Given the description of an element on the screen output the (x, y) to click on. 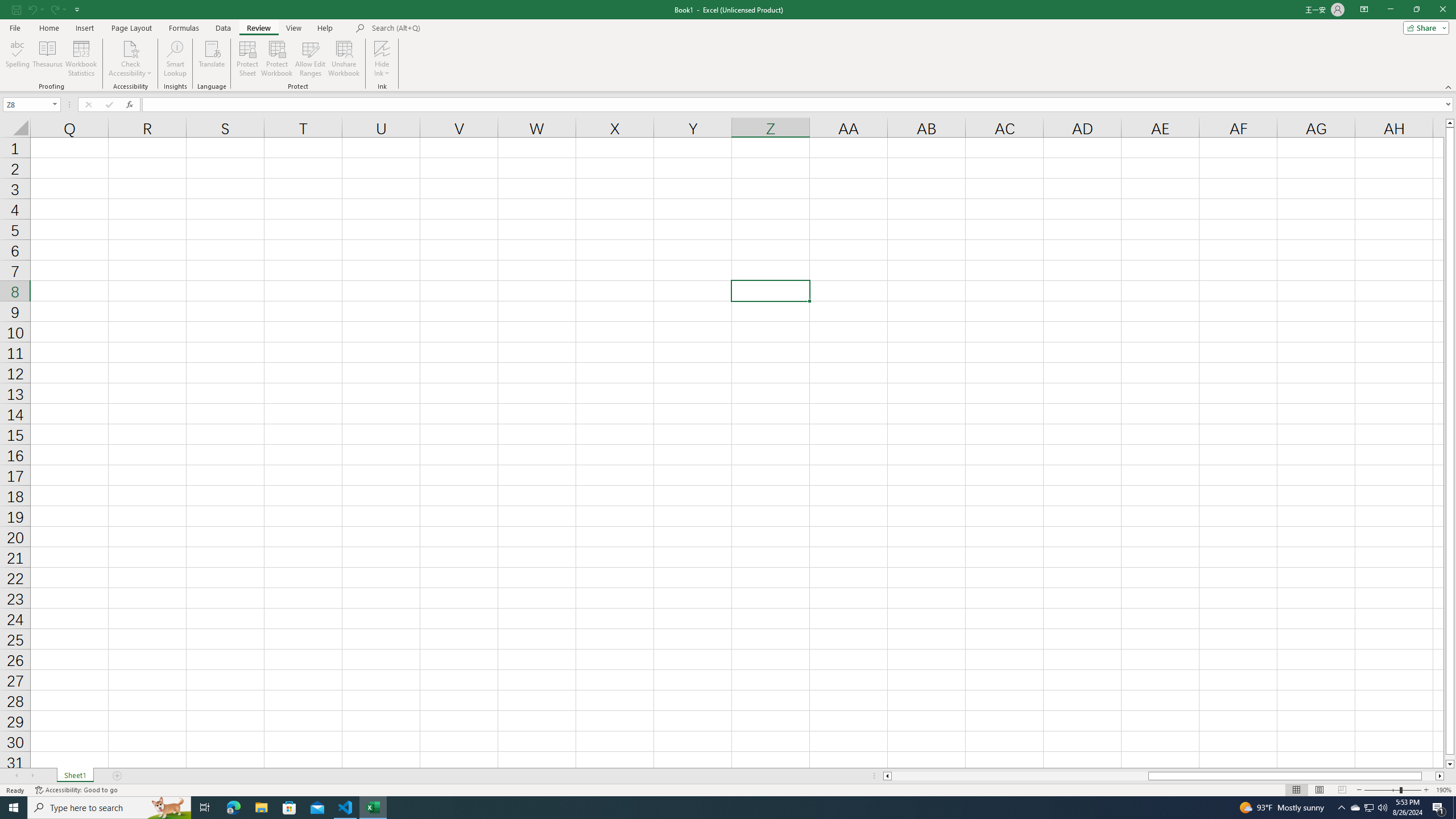
Accessibility Checker Accessibility: Good to go (76, 790)
Sheet1 (74, 775)
Minimize (1390, 9)
Hide Ink (381, 48)
Scroll Right (32, 775)
Zoom In (1426, 790)
Insert (83, 28)
Translate (211, 58)
Page Layout (131, 28)
Unshare Workbook (344, 58)
Formula Bar (798, 104)
Class: MsoCommandBar (728, 45)
File Tab (15, 27)
Name Box (27, 104)
Undo (31, 9)
